Given the description of an element on the screen output the (x, y) to click on. 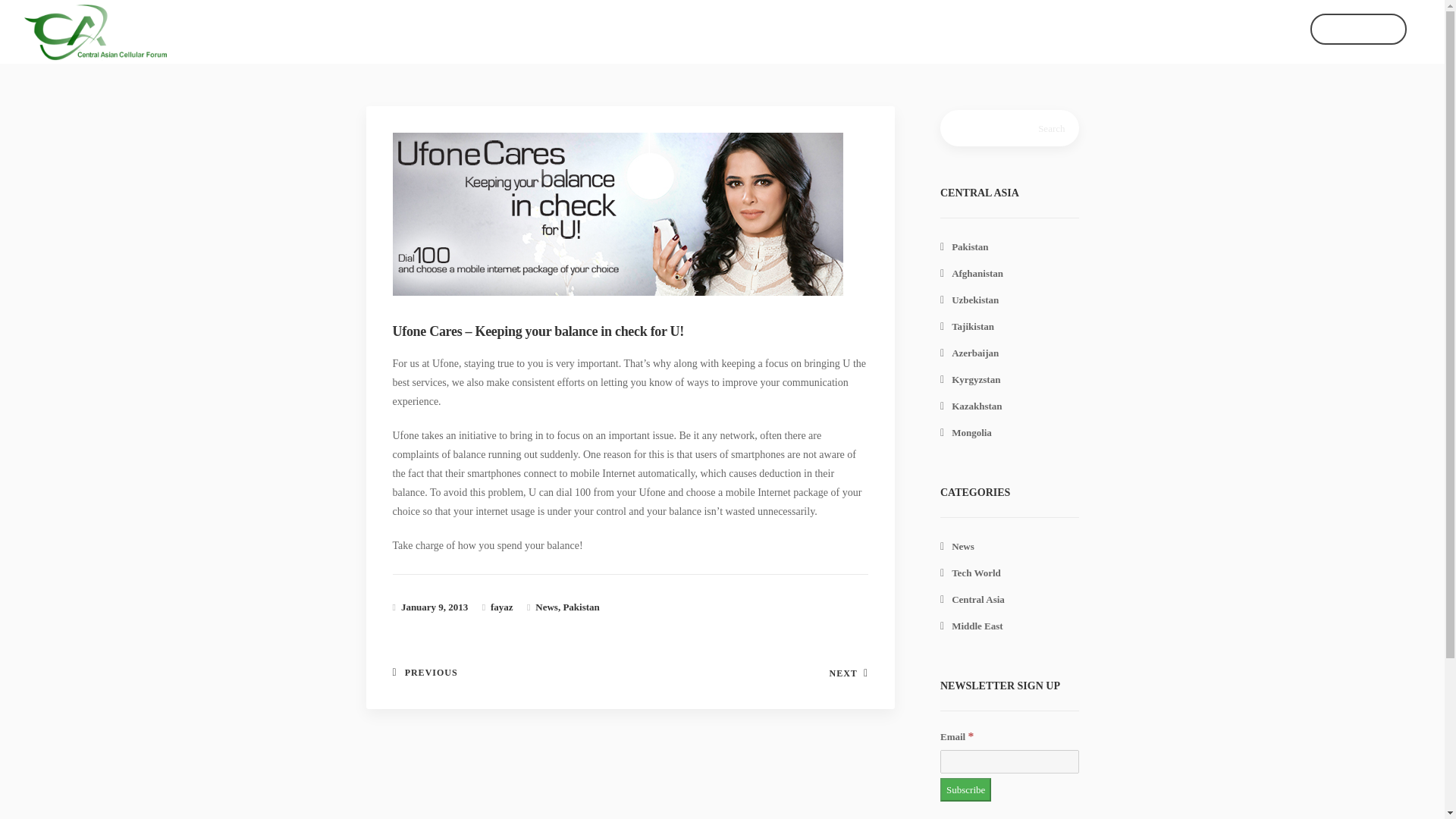
Subscribe (638, 667)
News (1265, 28)
Posts by fayaz (501, 606)
Middle East (971, 625)
NEWS (1265, 28)
Subscribe (638, 667)
Azerbaijan (969, 352)
ABOUT (1059, 28)
Mongolia (965, 432)
Kyrgyzstan (970, 378)
